Given the description of an element on the screen output the (x, y) to click on. 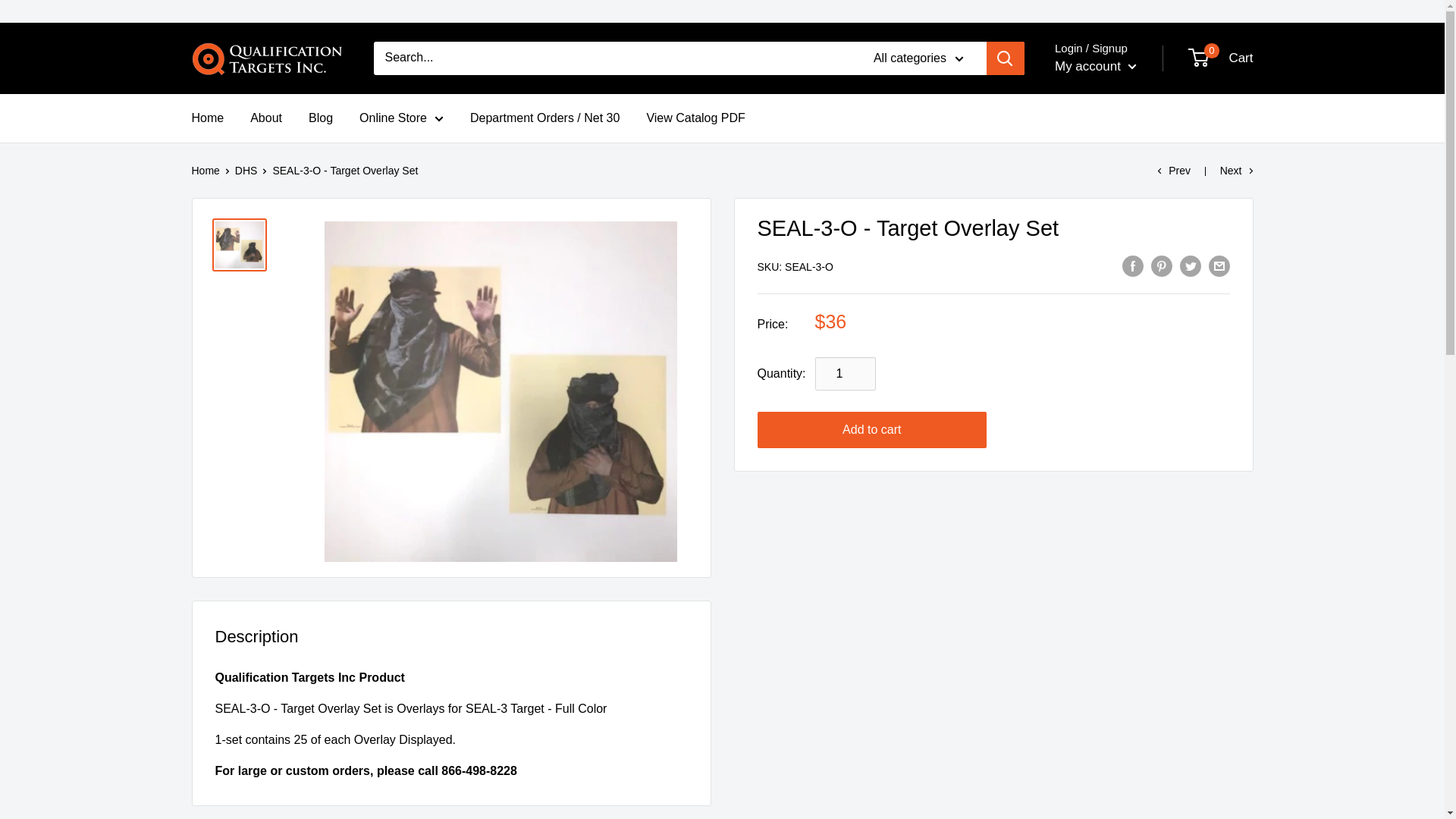
1 (845, 373)
